Given the description of an element on the screen output the (x, y) to click on. 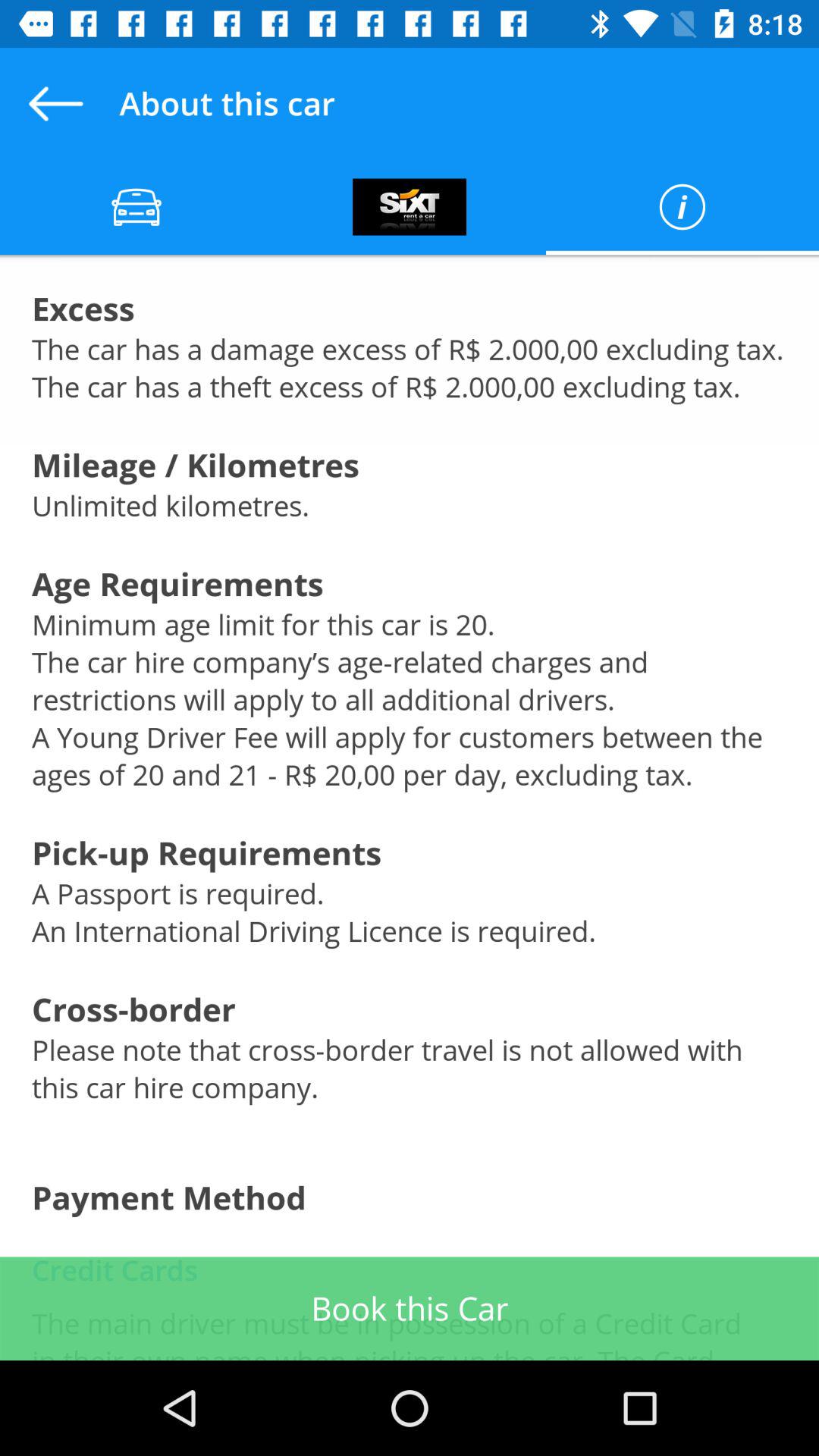
click on info button which is at top right of the page (682, 206)
click on the first button at top left of the page (136, 206)
select the car image in the page (136, 206)
